Given the description of an element on the screen output the (x, y) to click on. 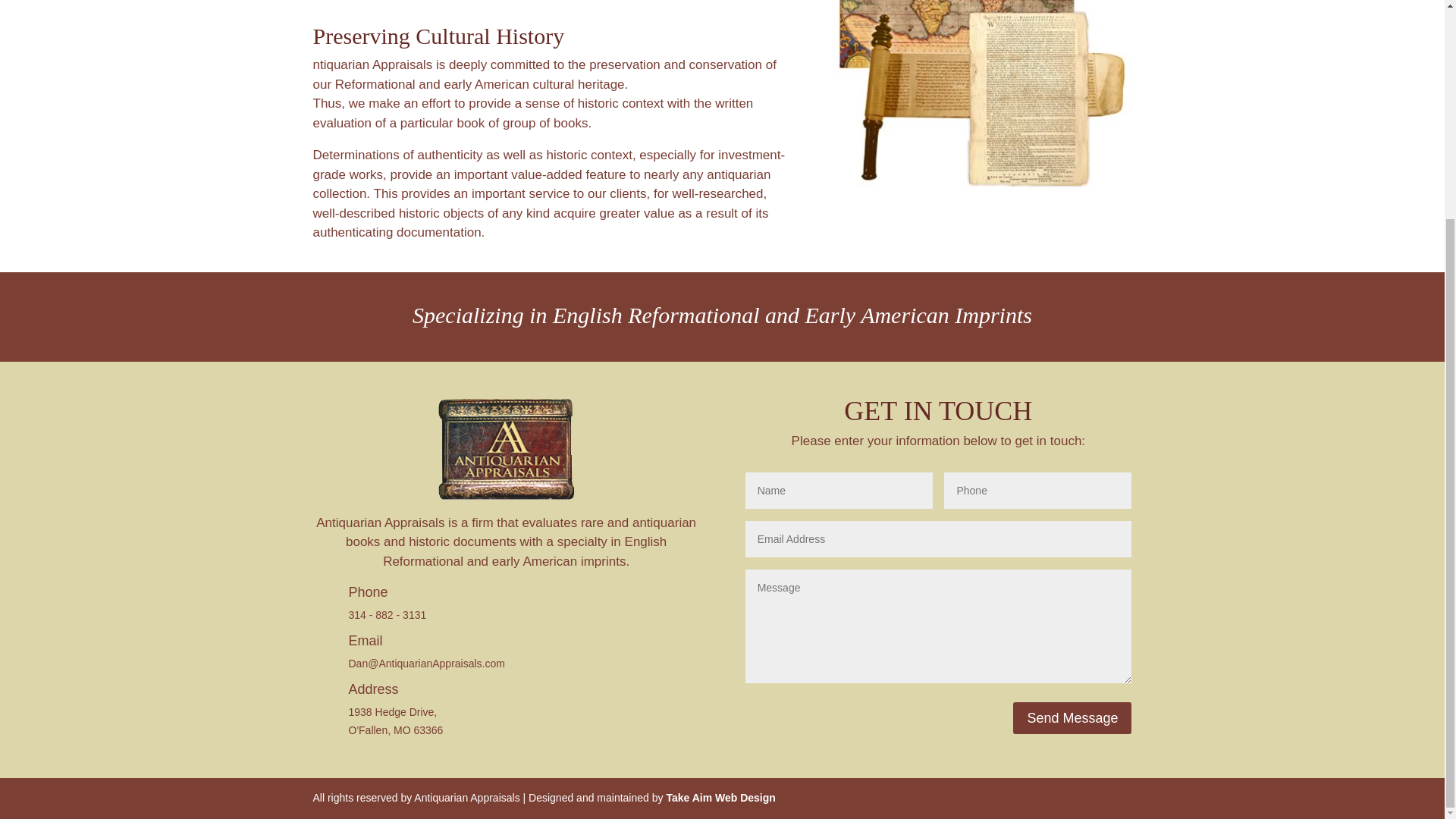
Take Aim Web Design (719, 797)
Send Message (1072, 717)
314 - 882 - 3131 (387, 614)
